Given the description of an element on the screen output the (x, y) to click on. 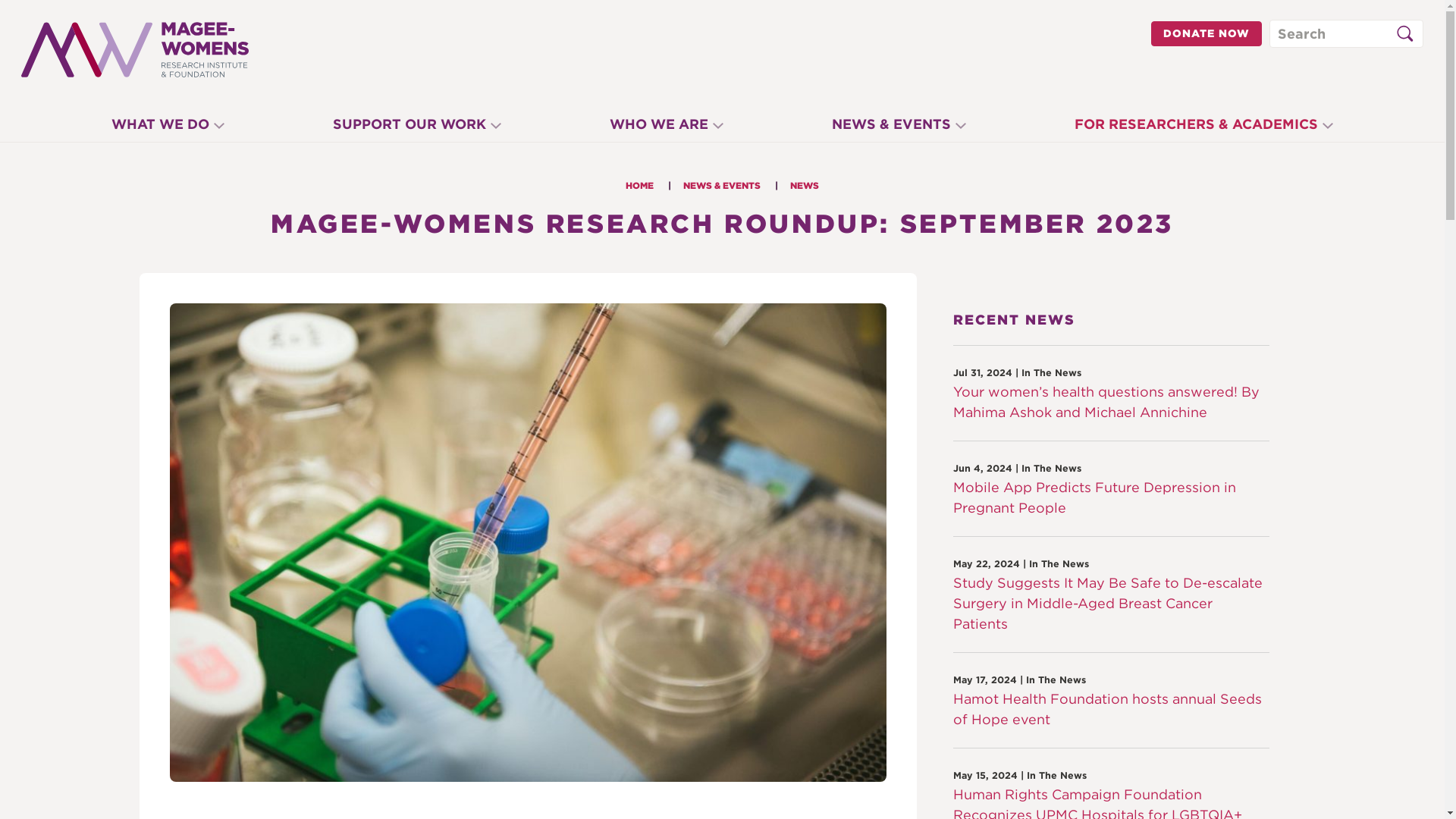
SUPPORT OUR WORK (416, 127)
WHO WE ARE (666, 127)
Search (1408, 37)
WHAT WE DO (168, 127)
Search (1404, 34)
DONATE NOW (1206, 33)
